Given the description of an element on the screen output the (x, y) to click on. 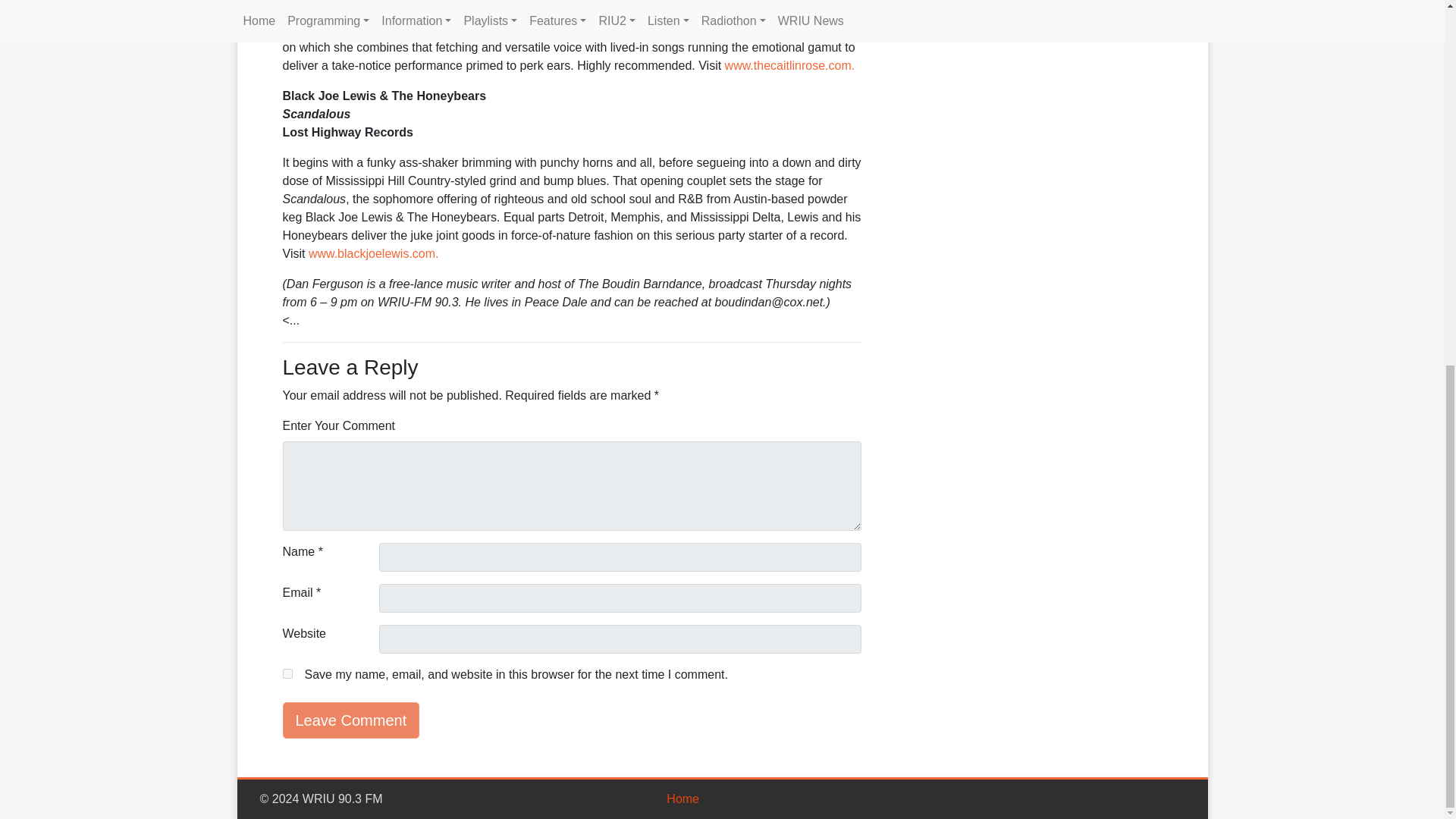
Leave Comment (350, 719)
yes (287, 673)
